Given the description of an element on the screen output the (x, y) to click on. 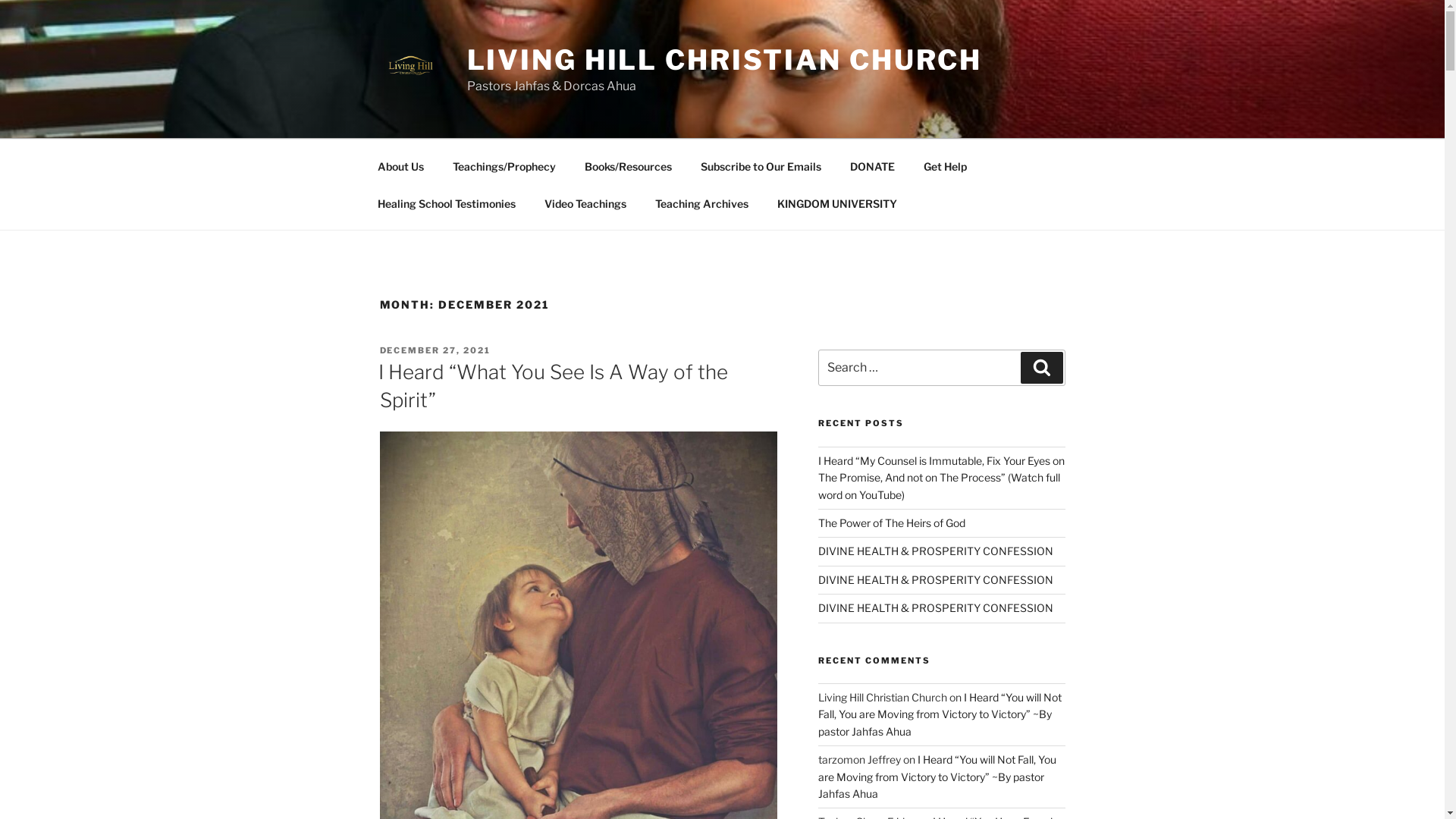
Search Element type: text (1041, 367)
Teaching Archives Element type: text (701, 203)
LIVING HILL CHRISTIAN CHURCH Element type: text (724, 59)
Healing School Testimonies Element type: text (446, 203)
KINGDOM UNIVERSITY Element type: text (837, 203)
Books/Resources Element type: text (628, 165)
Subscribe to Our Emails Element type: text (760, 165)
About Us Element type: text (400, 165)
The Power of The Heirs of God Element type: text (891, 522)
DIVINE HEALTH & PROSPERITY CONFESSION Element type: text (935, 550)
DONATE Element type: text (872, 165)
DECEMBER 27, 2021 Element type: text (434, 350)
DIVINE HEALTH & PROSPERITY CONFESSION Element type: text (935, 607)
Video Teachings Element type: text (584, 203)
Get Help Element type: text (944, 165)
Teachings/Prophecy Element type: text (504, 165)
DIVINE HEALTH & PROSPERITY CONFESSION Element type: text (935, 579)
